Given the description of an element on the screen output the (x, y) to click on. 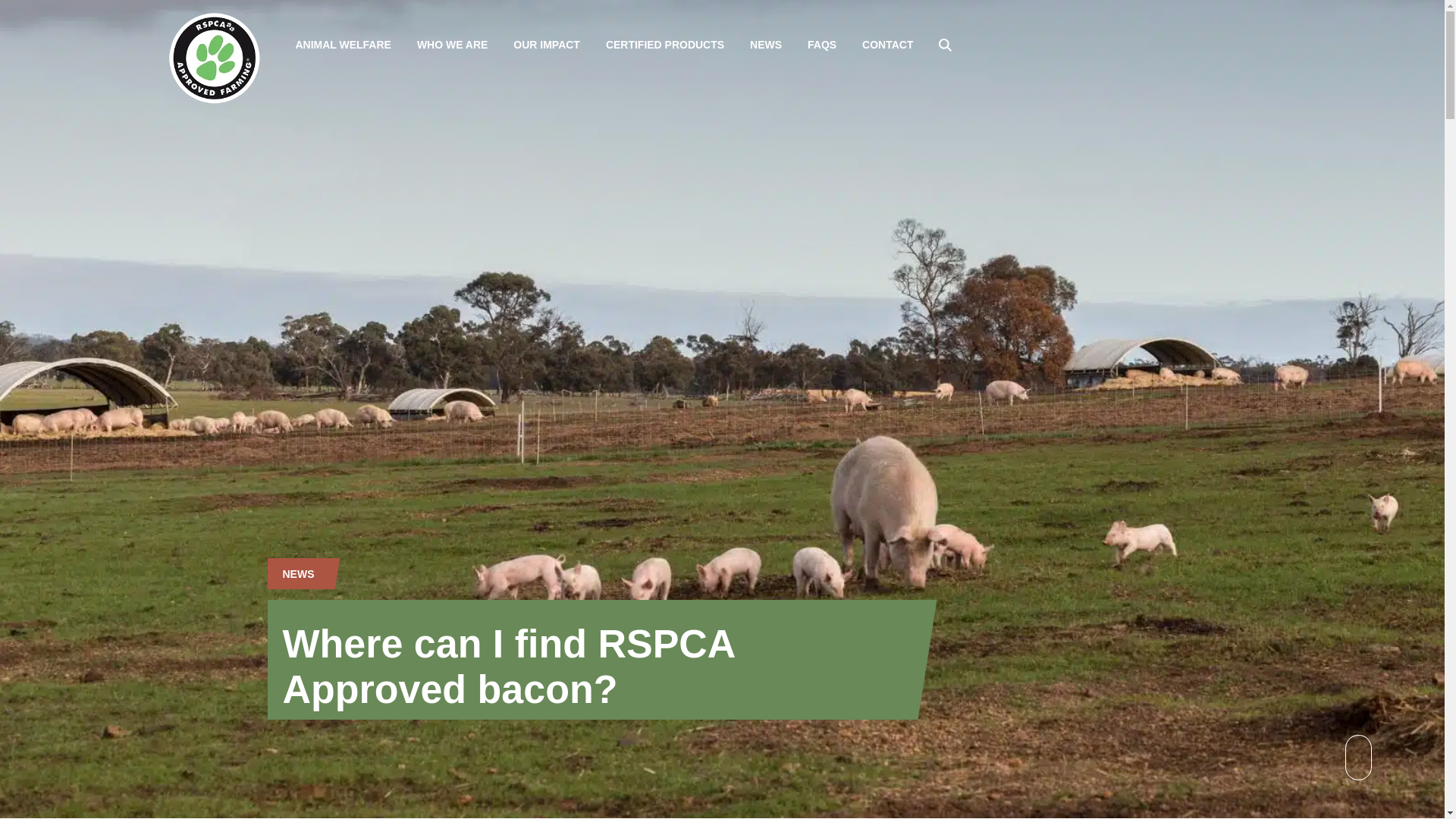
CERTIFIED PRODUCTS (664, 45)
ANIMAL WELFARE (342, 45)
OUR IMPACT (546, 45)
WHO WE ARE (452, 45)
NEWS (298, 573)
CONTACT (887, 45)
